Given the description of an element on the screen output the (x, y) to click on. 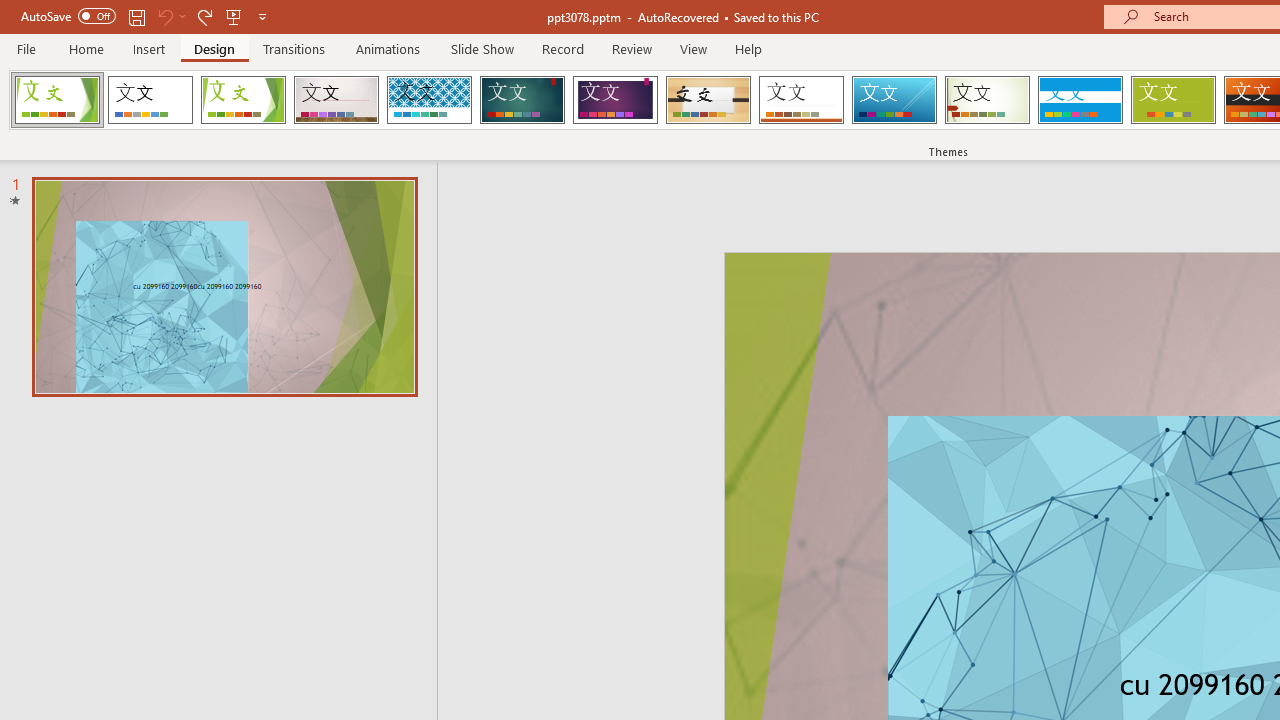
Slice Loading Preview... (893, 100)
Retrospect Loading Preview... (801, 100)
Ion Loading Preview... (522, 100)
Wisp Loading Preview... (987, 100)
Office Theme (150, 100)
